Given the description of an element on the screen output the (x, y) to click on. 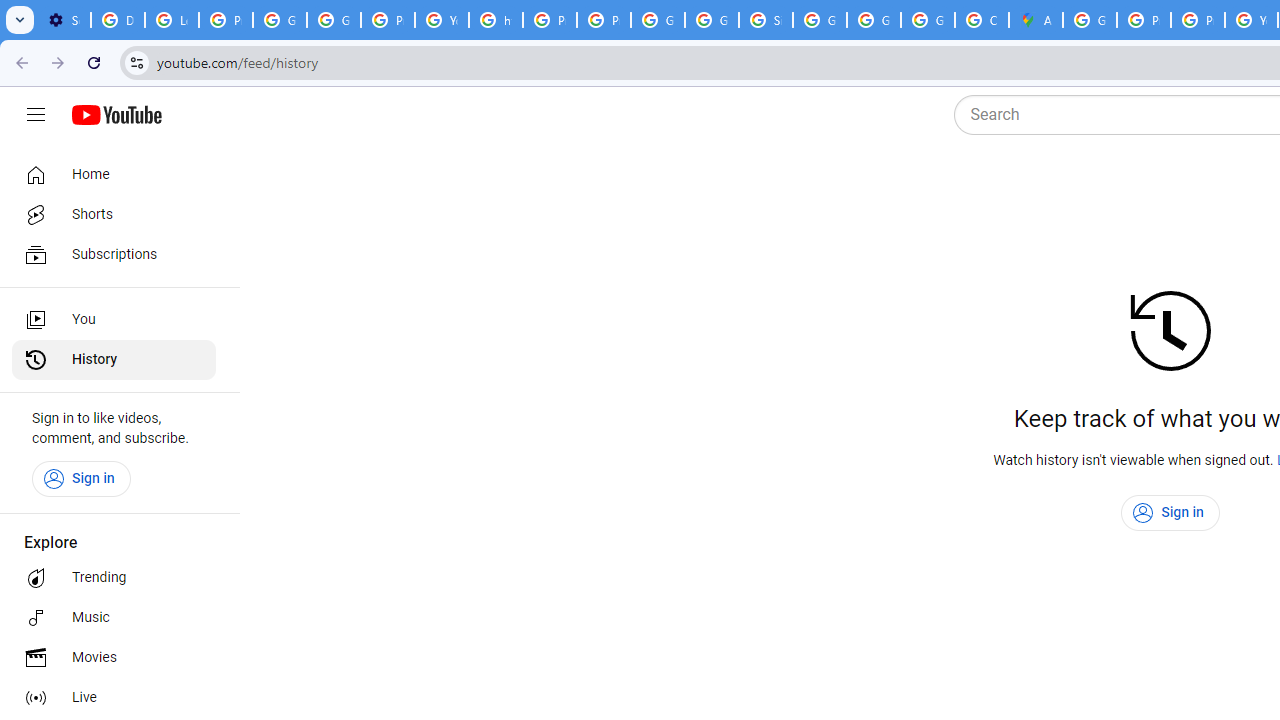
Sign in (1170, 513)
Google Account Help (333, 20)
Guide (35, 115)
Privacy Help Center - Policies Help (1144, 20)
